Given the description of an element on the screen output the (x, y) to click on. 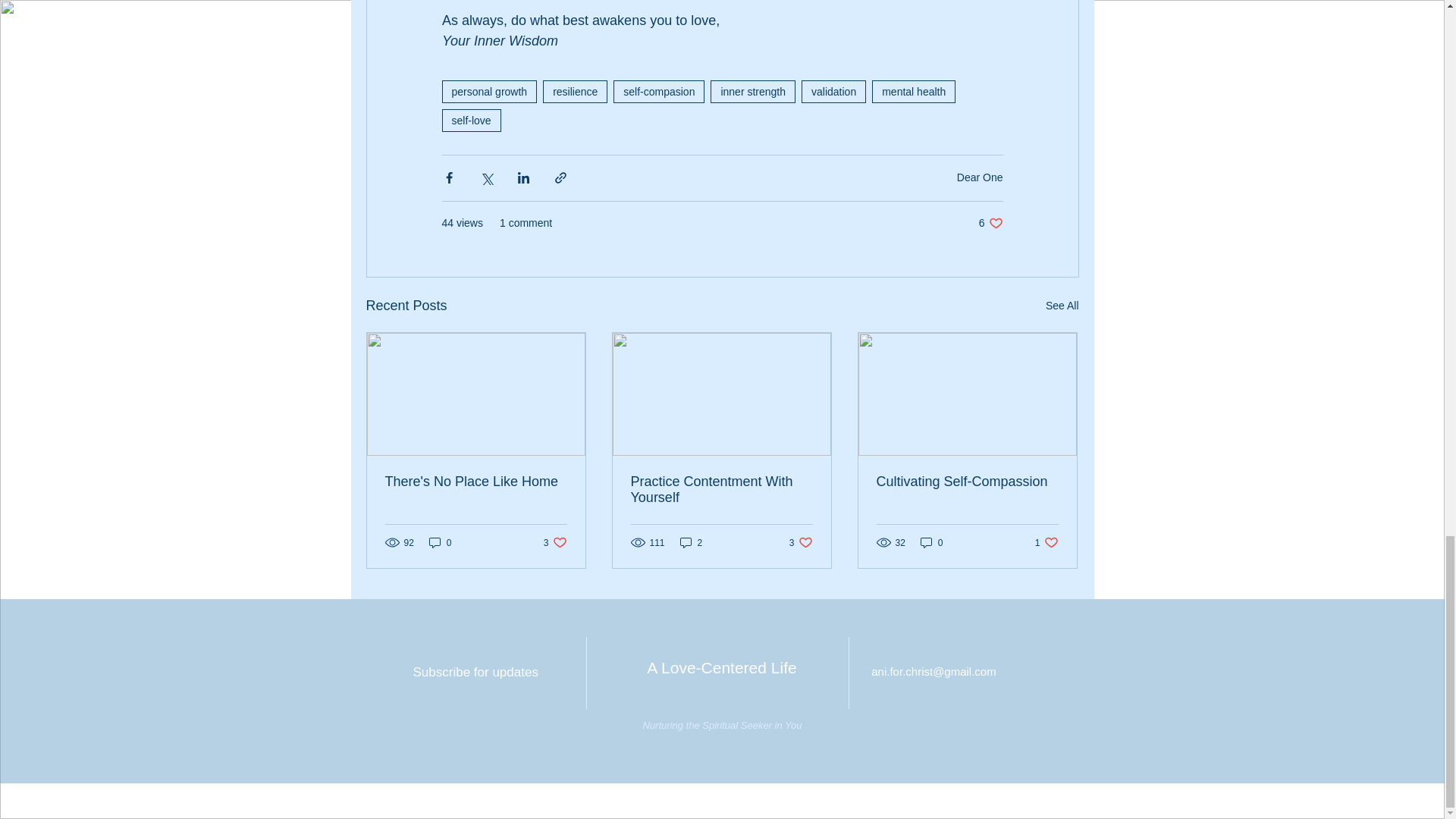
0 (555, 542)
See All (440, 542)
resilience (1061, 305)
personal growth (575, 91)
inner strength (489, 91)
2 (752, 91)
self-compasion (691, 542)
validation (658, 91)
